Given the description of an element on the screen output the (x, y) to click on. 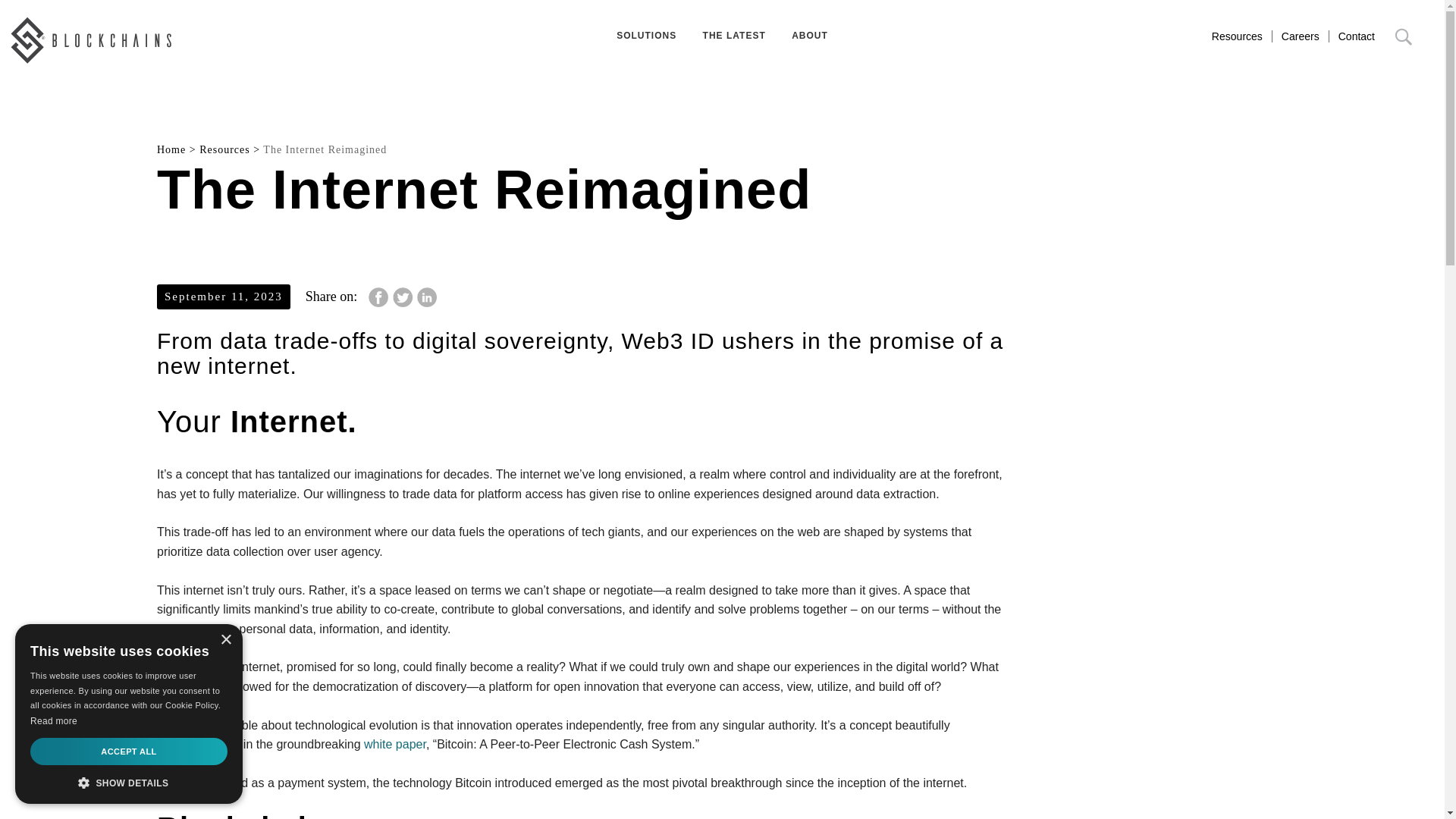
Resources (224, 149)
Home (171, 149)
THE LATEST (734, 35)
ABOUT (810, 35)
Read more (53, 720)
Resources (1236, 36)
Blockchains (91, 40)
Careers (1299, 36)
SOLUTIONS (646, 35)
Contact (1356, 36)
white paper (395, 744)
